Given the description of an element on the screen output the (x, y) to click on. 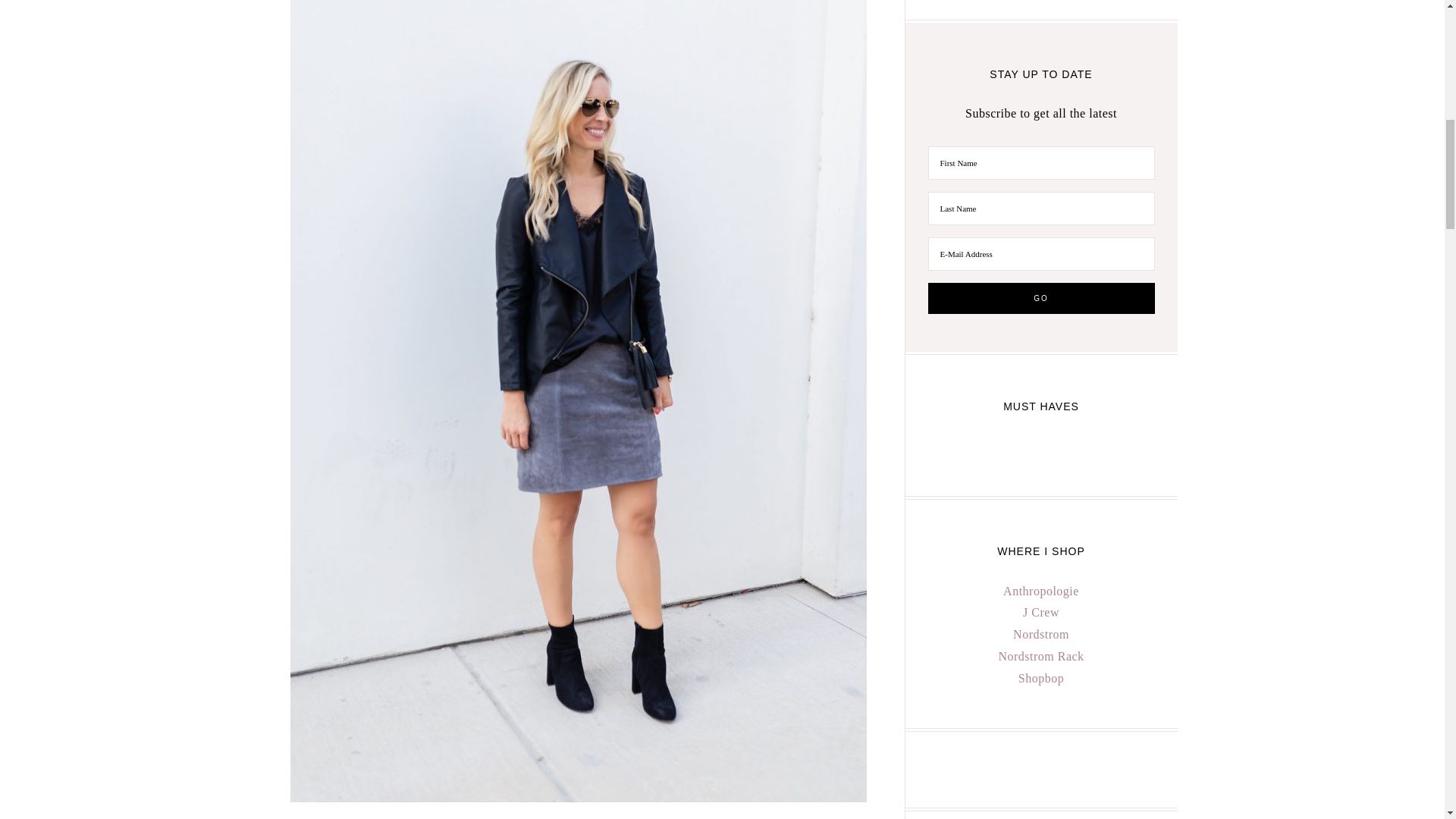
Go (1041, 297)
